Given the description of an element on the screen output the (x, y) to click on. 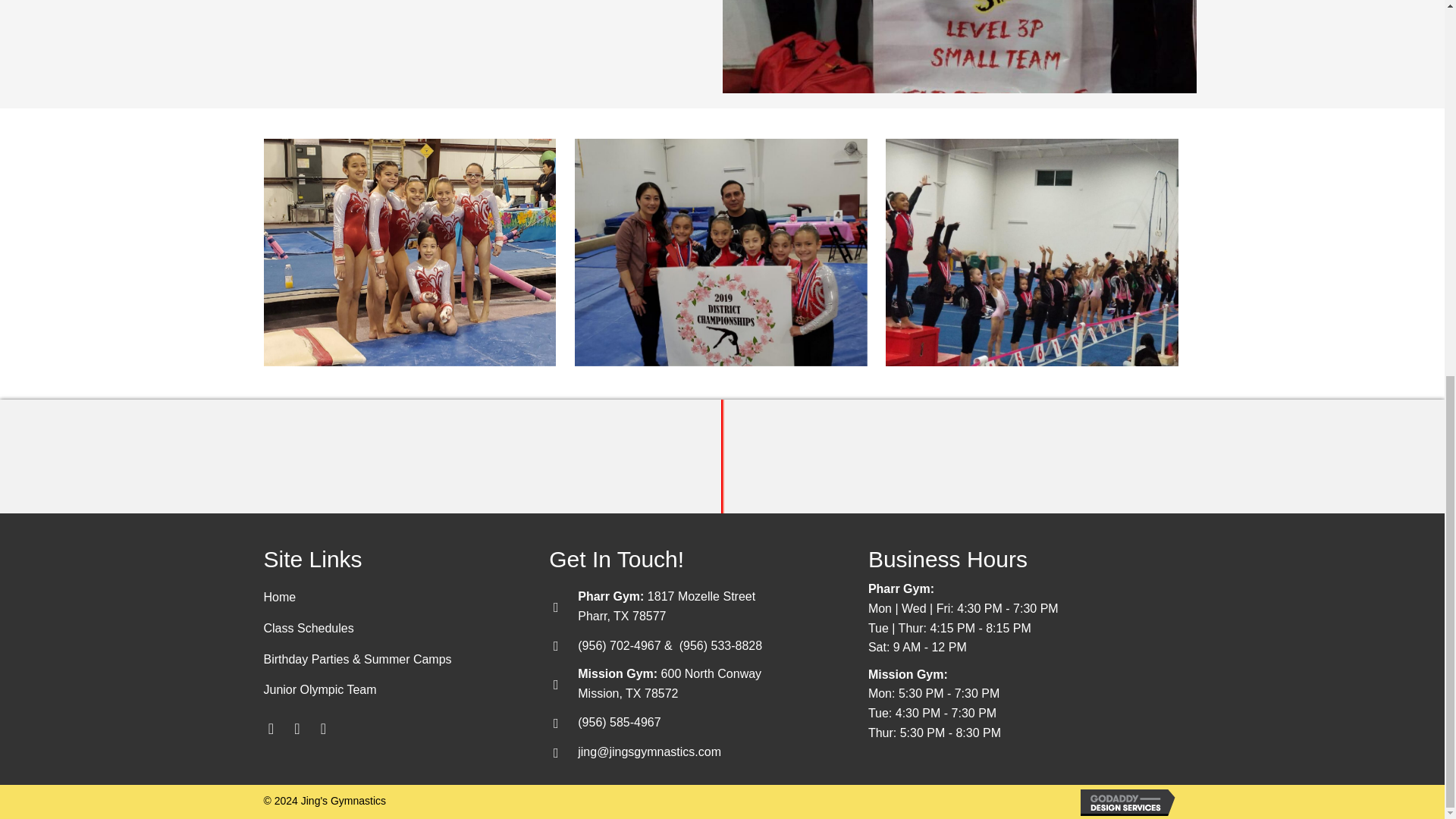
Junior Olympic Team (391, 690)
Home (391, 598)
Facebook (271, 728)
Twitter (296, 728)
Class Schedules (391, 629)
Instagram (322, 728)
